Given the description of an element on the screen output the (x, y) to click on. 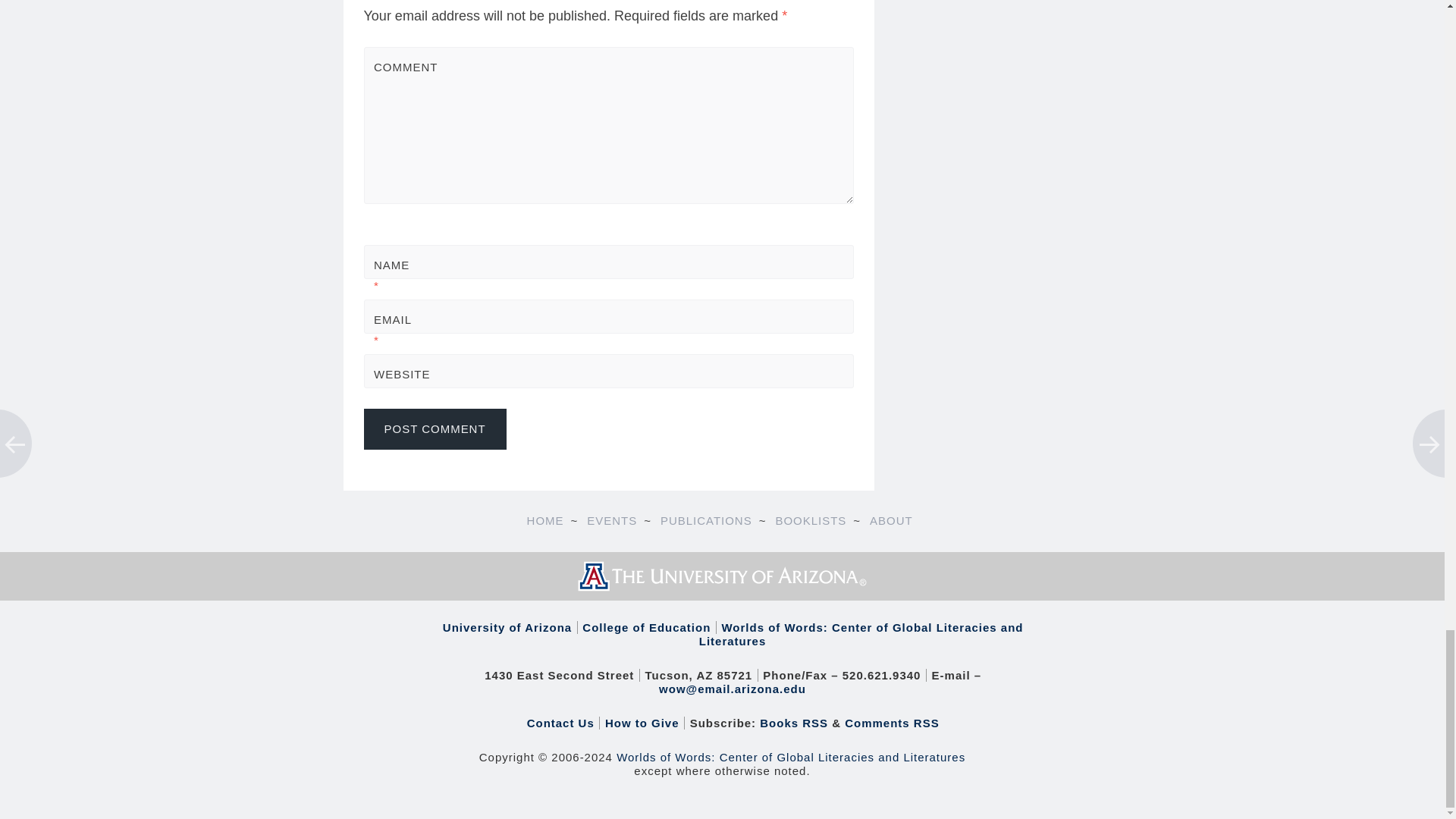
Post Comment (435, 428)
